Given the description of an element on the screen output the (x, y) to click on. 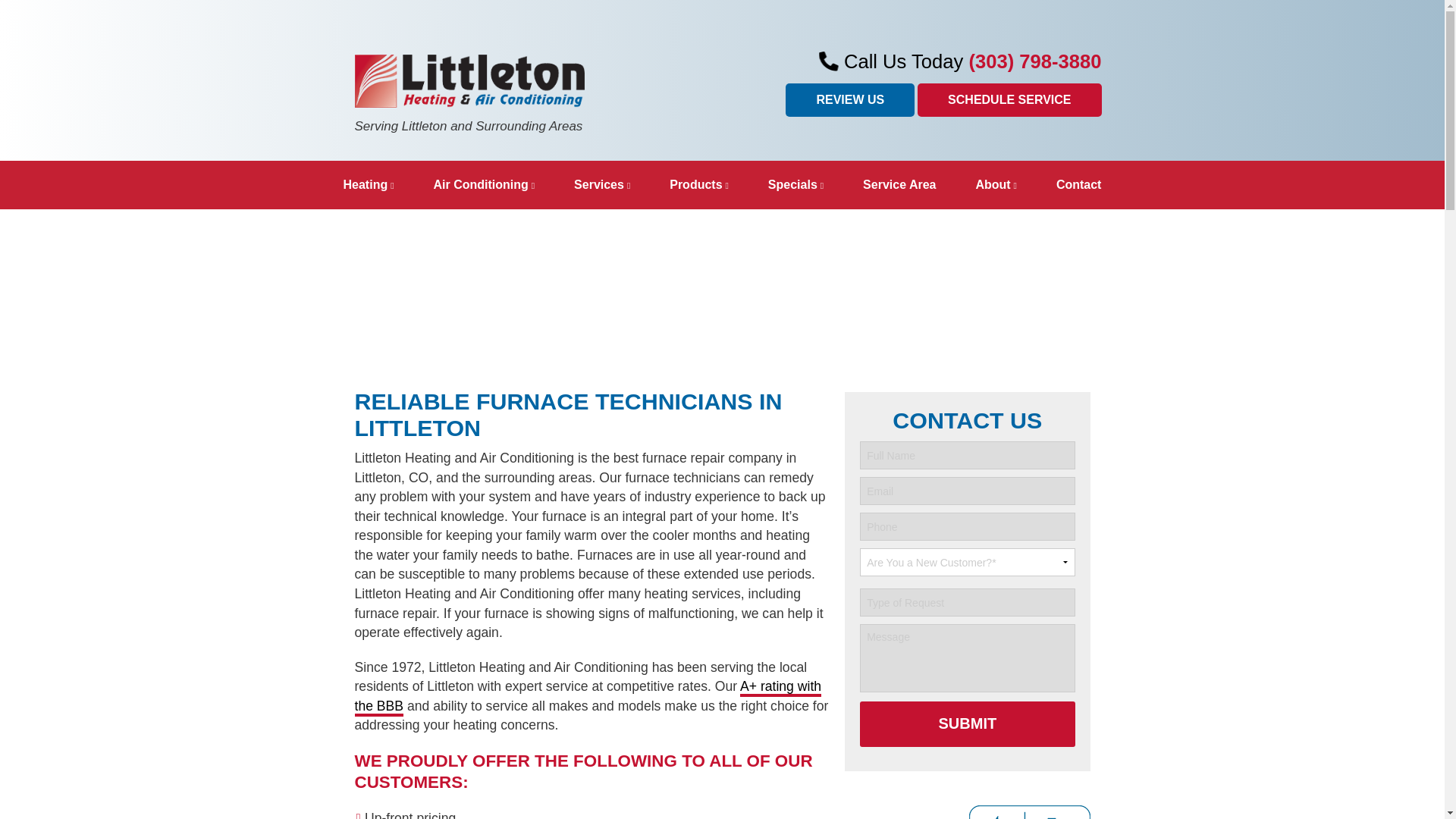
Services (601, 184)
Air Conditioning (483, 184)
Submit (967, 723)
SCHEDULE SERVICE (1008, 100)
Heating (367, 184)
Products (699, 184)
REVIEW US (850, 100)
Littleton Heating and Air Conditioning (470, 80)
Specials (796, 184)
